Given the description of an element on the screen output the (x, y) to click on. 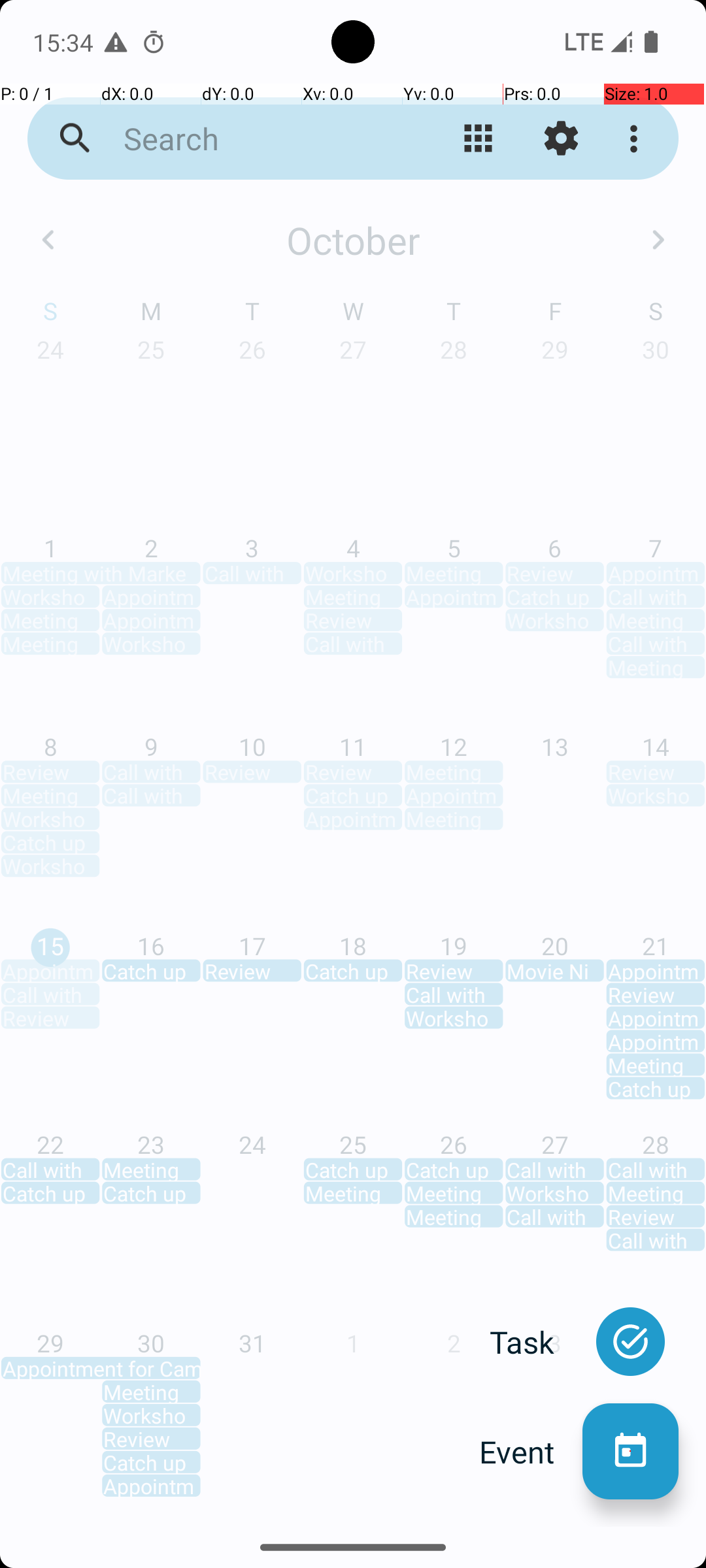
Task Element type: android.widget.TextView (535, 1341)
Event Element type: android.widget.TextView (530, 1451)
